Given the description of an element on the screen output the (x, y) to click on. 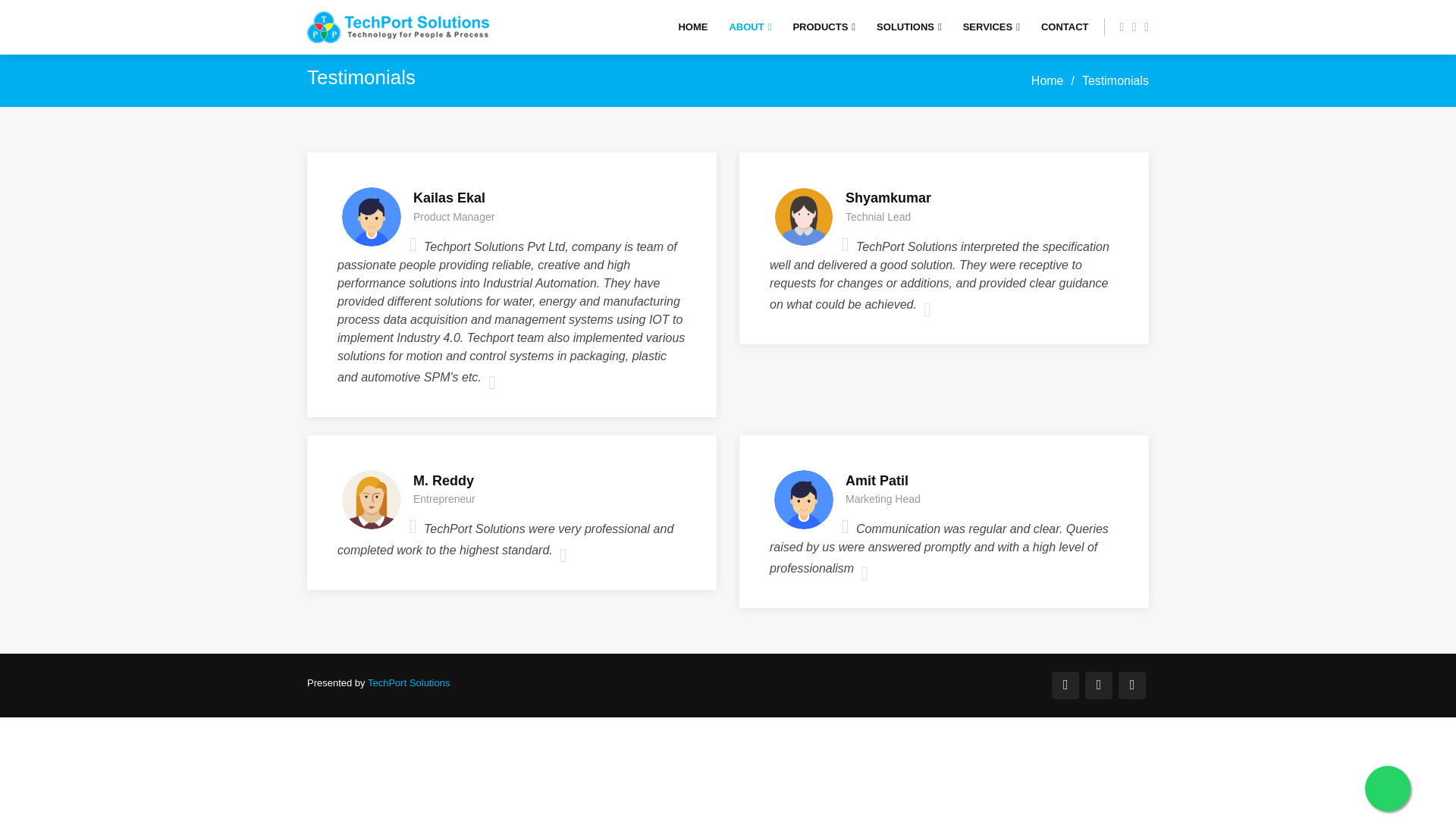
SERVICES (991, 27)
Home (1047, 80)
SOLUTIONS (909, 27)
ABOUT (750, 27)
HOME (692, 27)
CONTACT (1065, 27)
PRODUCTS (824, 27)
